Given the description of an element on the screen output the (x, y) to click on. 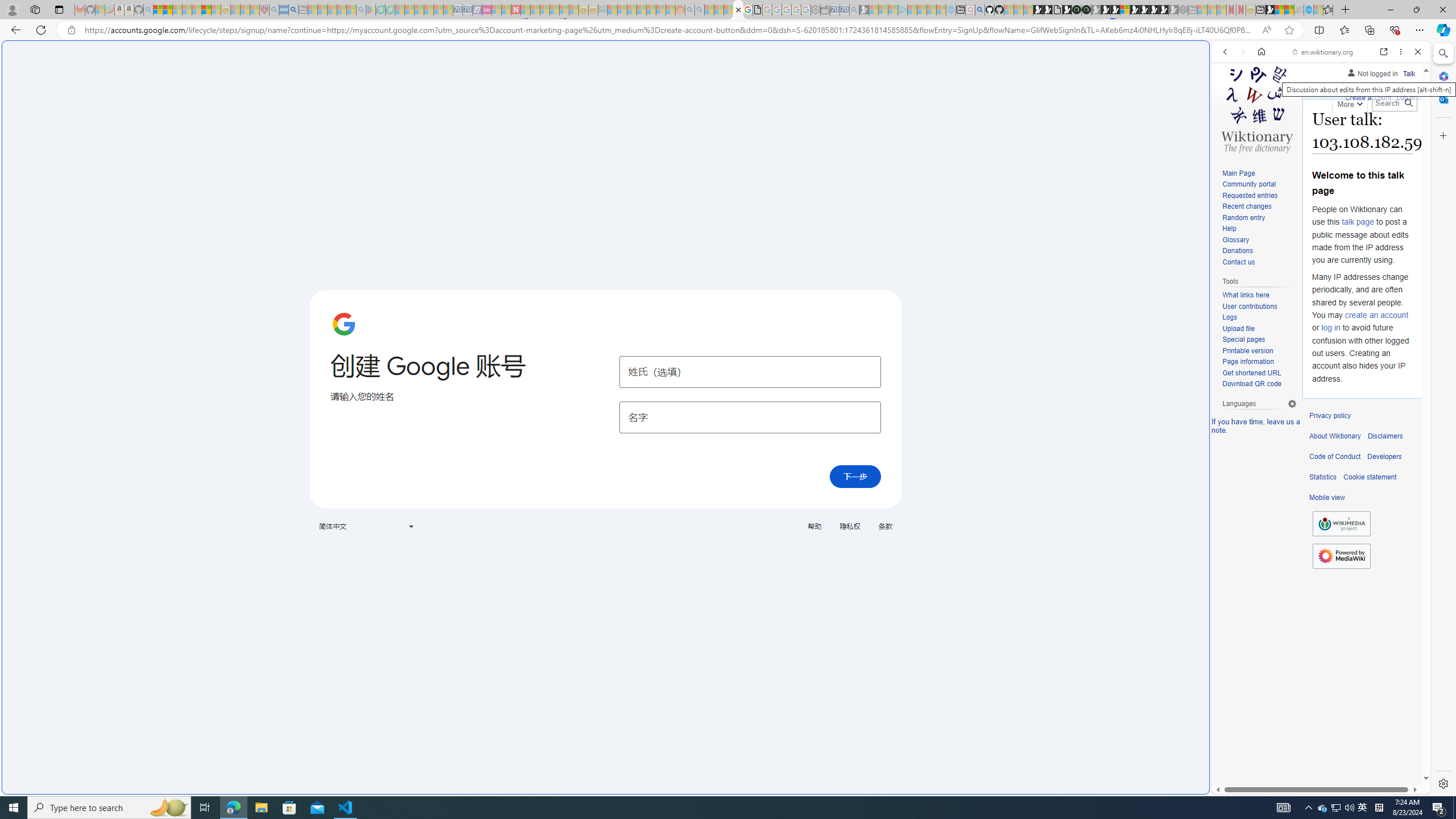
Class: VfPpkd-t08AT-Bz112c-Bd00G (410, 526)
Code of Conduct (1334, 456)
User contributions (1248, 306)
